Given the description of an element on the screen output the (x, y) to click on. 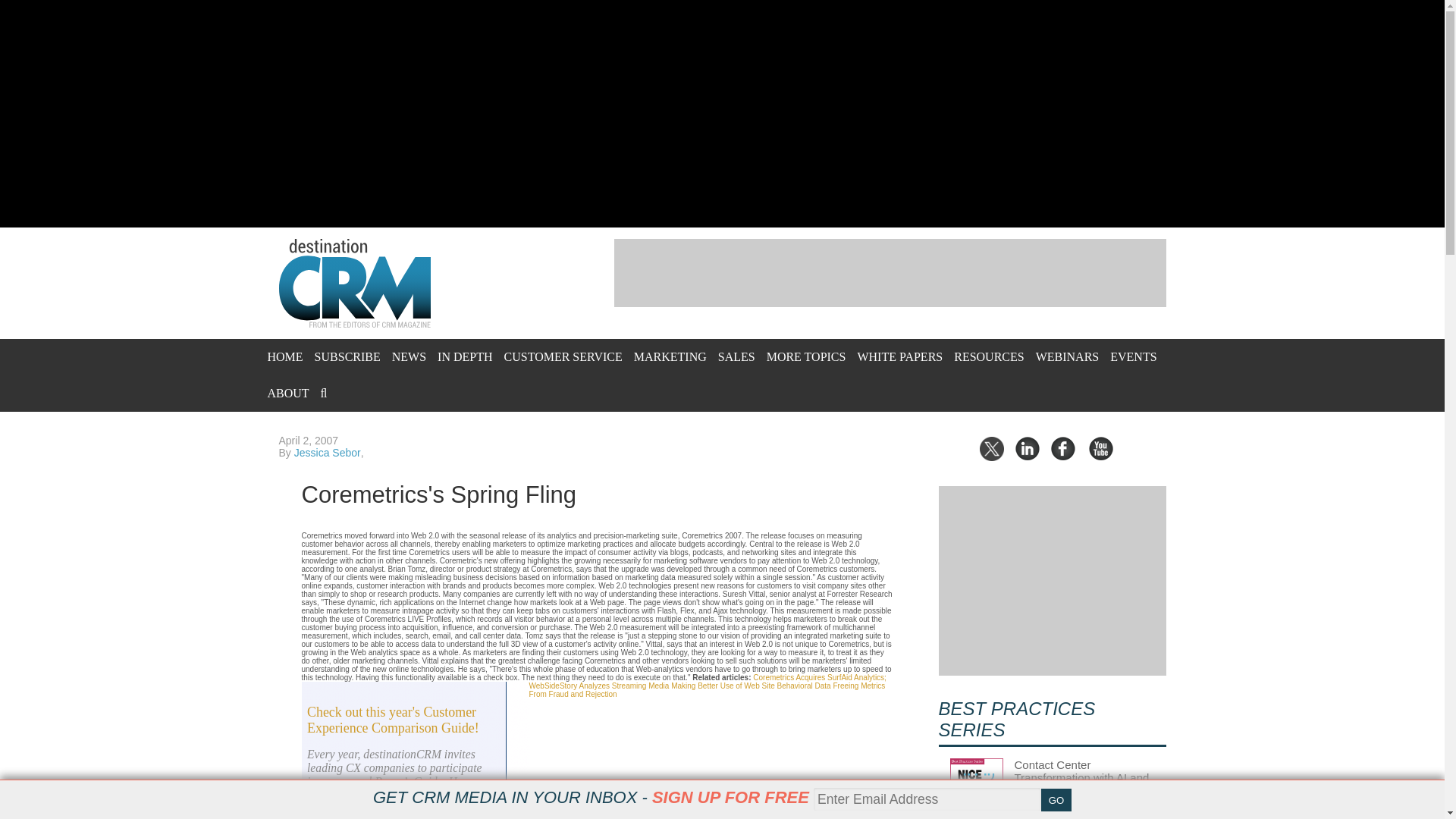
MARKETING (669, 357)
MORE TOPICS (806, 357)
IN DEPTH (465, 357)
Marketing (669, 357)
RESOURCES (988, 357)
SUBSCRIBE (347, 357)
SALES (736, 357)
Customer Service (563, 357)
GET CRM MEDIA IN YOUR INBOX - SIGN UP FOR FREE (590, 797)
HOME (284, 357)
